Given the description of an element on the screen output the (x, y) to click on. 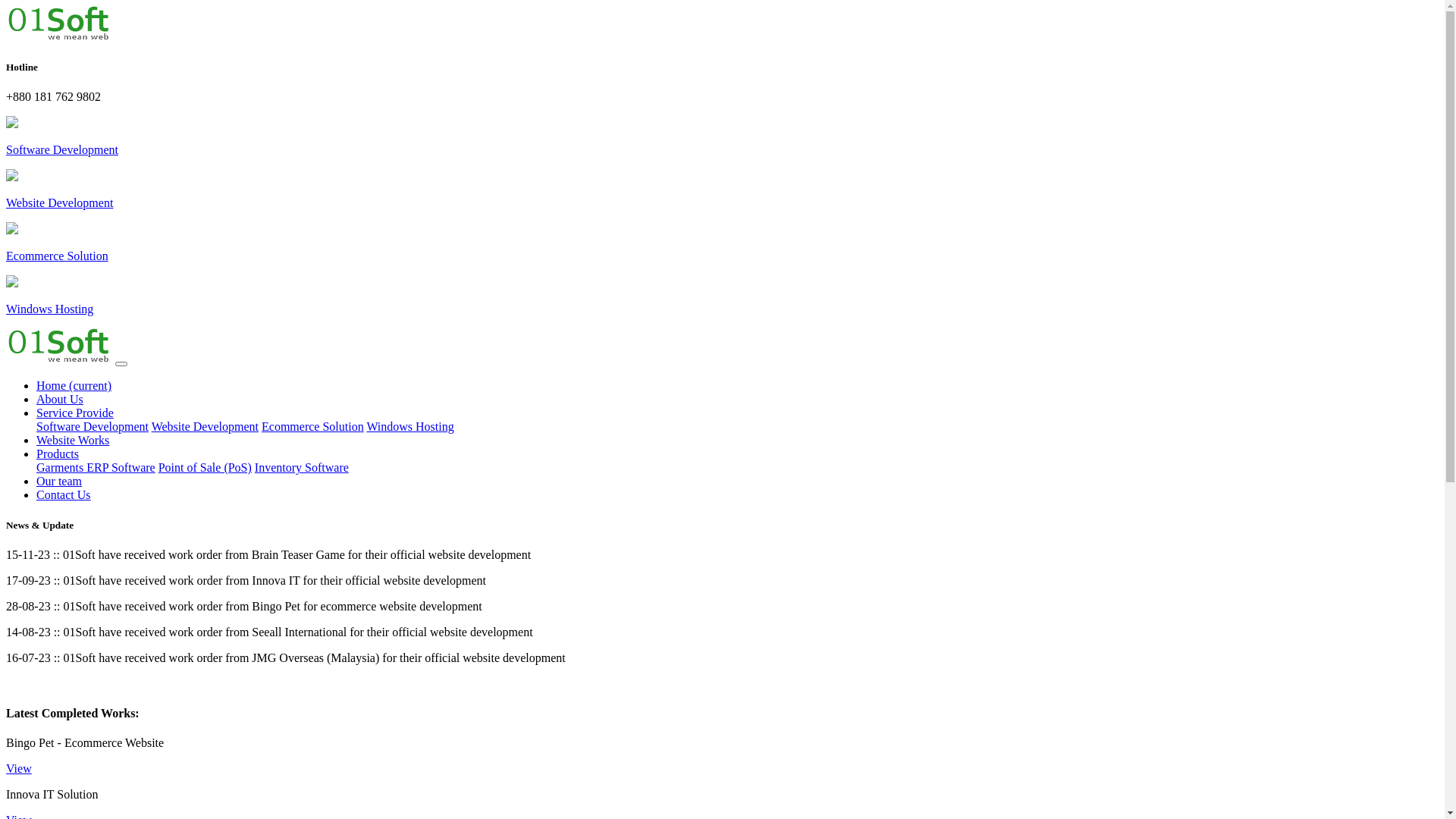
Software Development Element type: text (92, 426)
Products Element type: text (57, 453)
View Element type: text (18, 768)
Point of Sale (PoS) Element type: text (204, 467)
Website Works Element type: text (72, 439)
Ecommerce Solution Element type: text (722, 243)
Home (current) Element type: text (73, 385)
Our team Element type: text (58, 480)
Inventory Software Element type: text (301, 467)
Contact Us Element type: text (63, 494)
Windows Hosting Element type: text (409, 426)
Garments ERP Software Element type: text (95, 467)
Website Development Element type: text (722, 190)
Software Development Element type: text (722, 136)
About Us Element type: text (59, 398)
Website Development Element type: text (204, 426)
Windows Hosting Element type: text (722, 296)
Ecommerce Solution Element type: text (312, 426)
Service Provide Element type: text (74, 412)
